Given the description of an element on the screen output the (x, y) to click on. 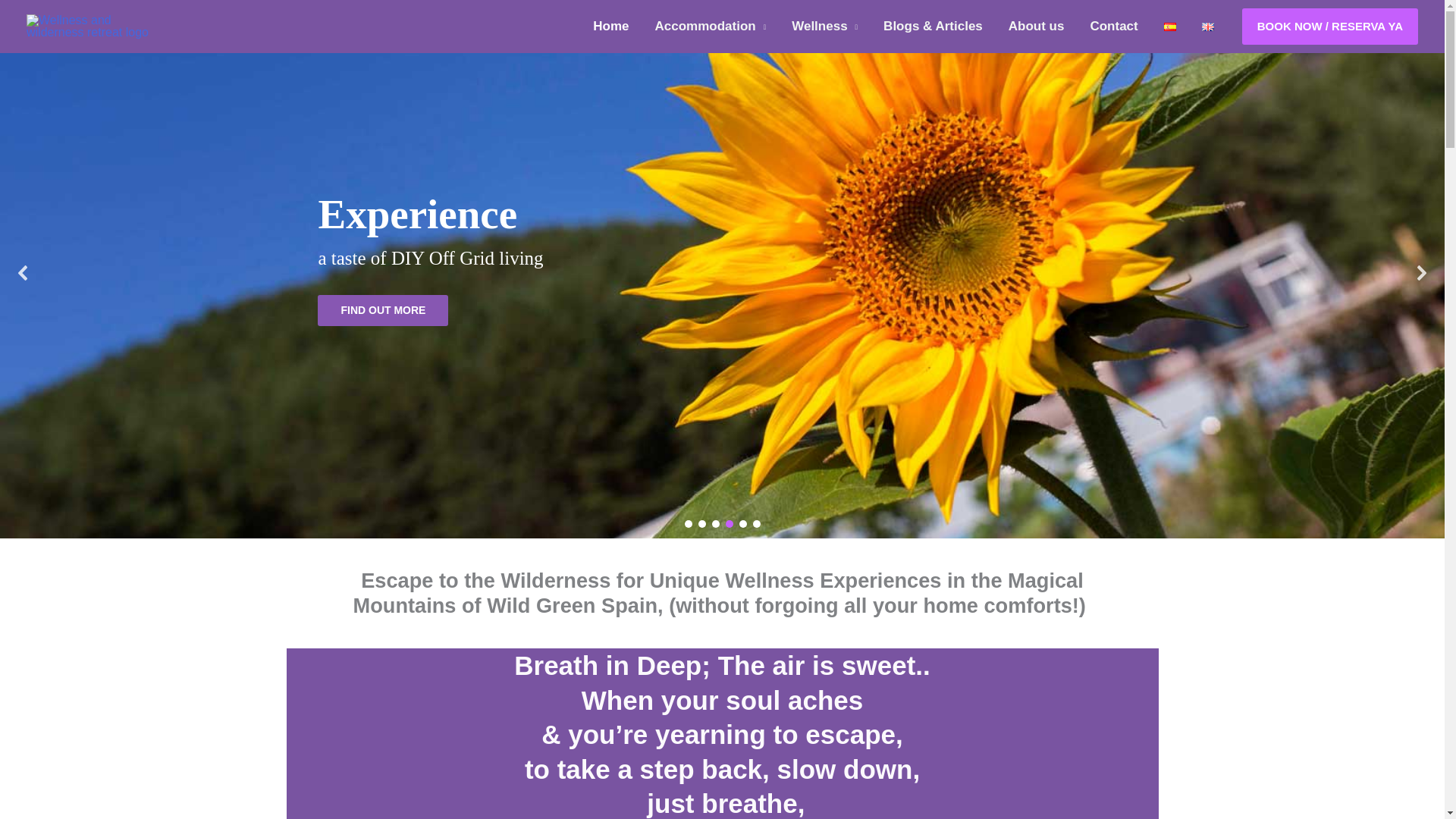
Wellness (824, 26)
Accommodation (710, 26)
Contact (1113, 26)
About us (1036, 26)
Home (610, 26)
